Given the description of an element on the screen output the (x, y) to click on. 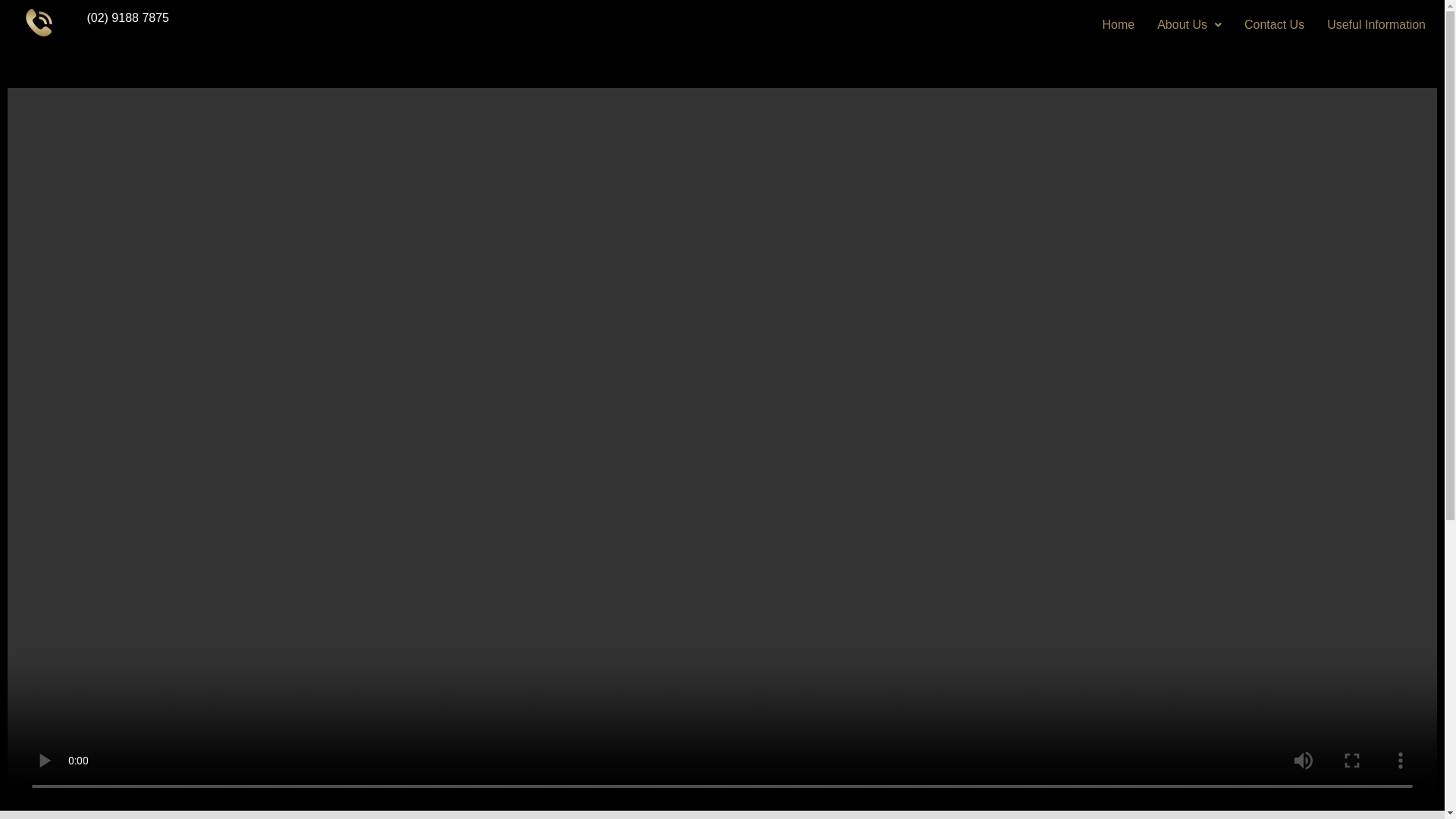
Contact Us Element type: text (1274, 24)
About Us Element type: text (1189, 24)
purple-phone-icon-png-5 Element type: hover (39, 22)
Home Element type: text (1117, 24)
Useful Information Element type: text (1376, 24)
